Given the description of an element on the screen output the (x, y) to click on. 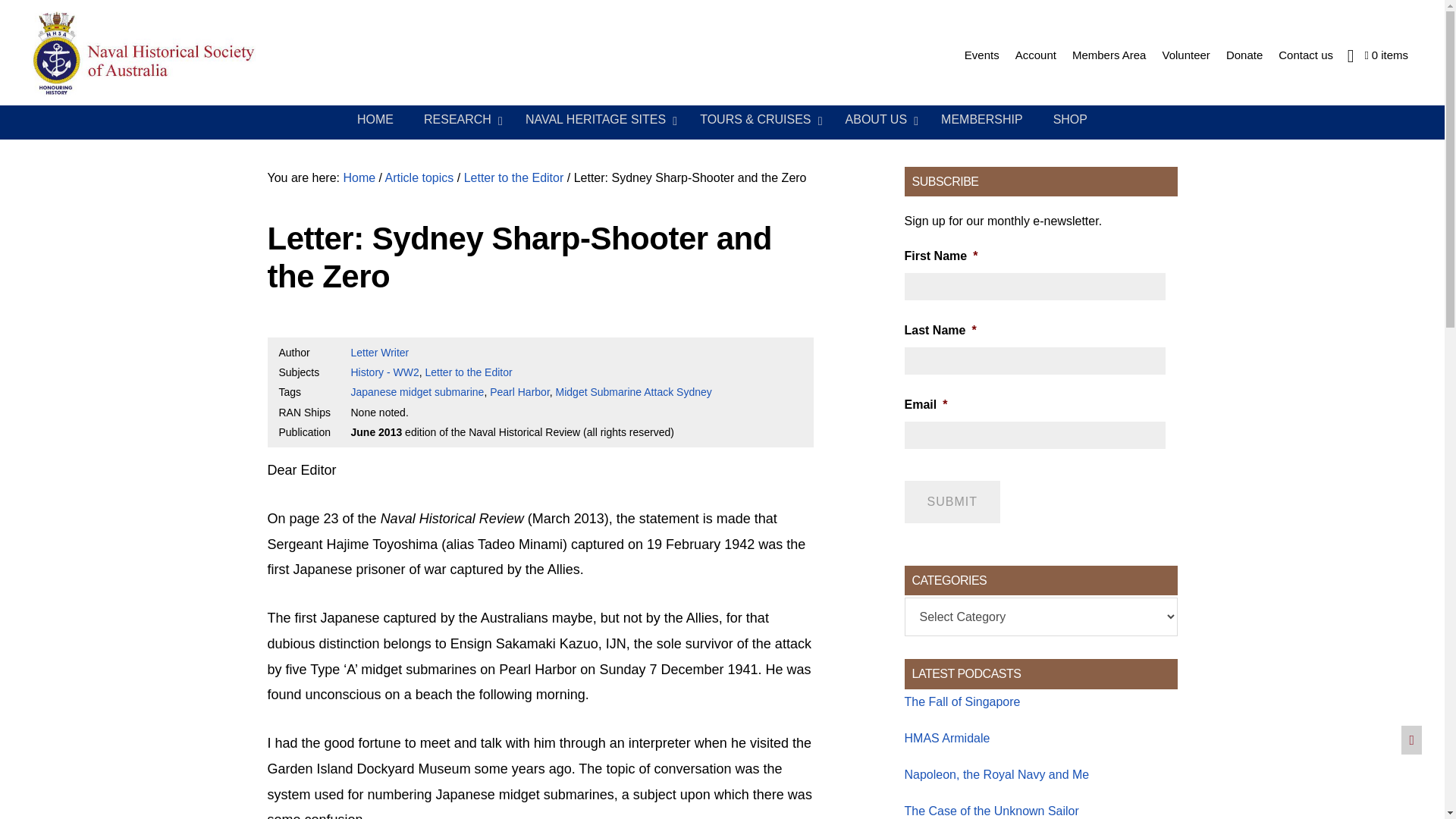
NAVAL HERITAGE SITES (597, 119)
Members Area (1109, 55)
Events (982, 55)
Posts by Letter Writer (379, 352)
Show Search (1350, 55)
Submit (951, 501)
NAVAL HISTORICAL SOCIETY OF AUSTRALIA (181, 54)
Start shopping (1385, 55)
Volunteer (1185, 55)
Letter to the Editor (468, 372)
History - WW2 (384, 372)
HOME (375, 119)
Donate (1244, 55)
Account (1035, 55)
